Given the description of an element on the screen output the (x, y) to click on. 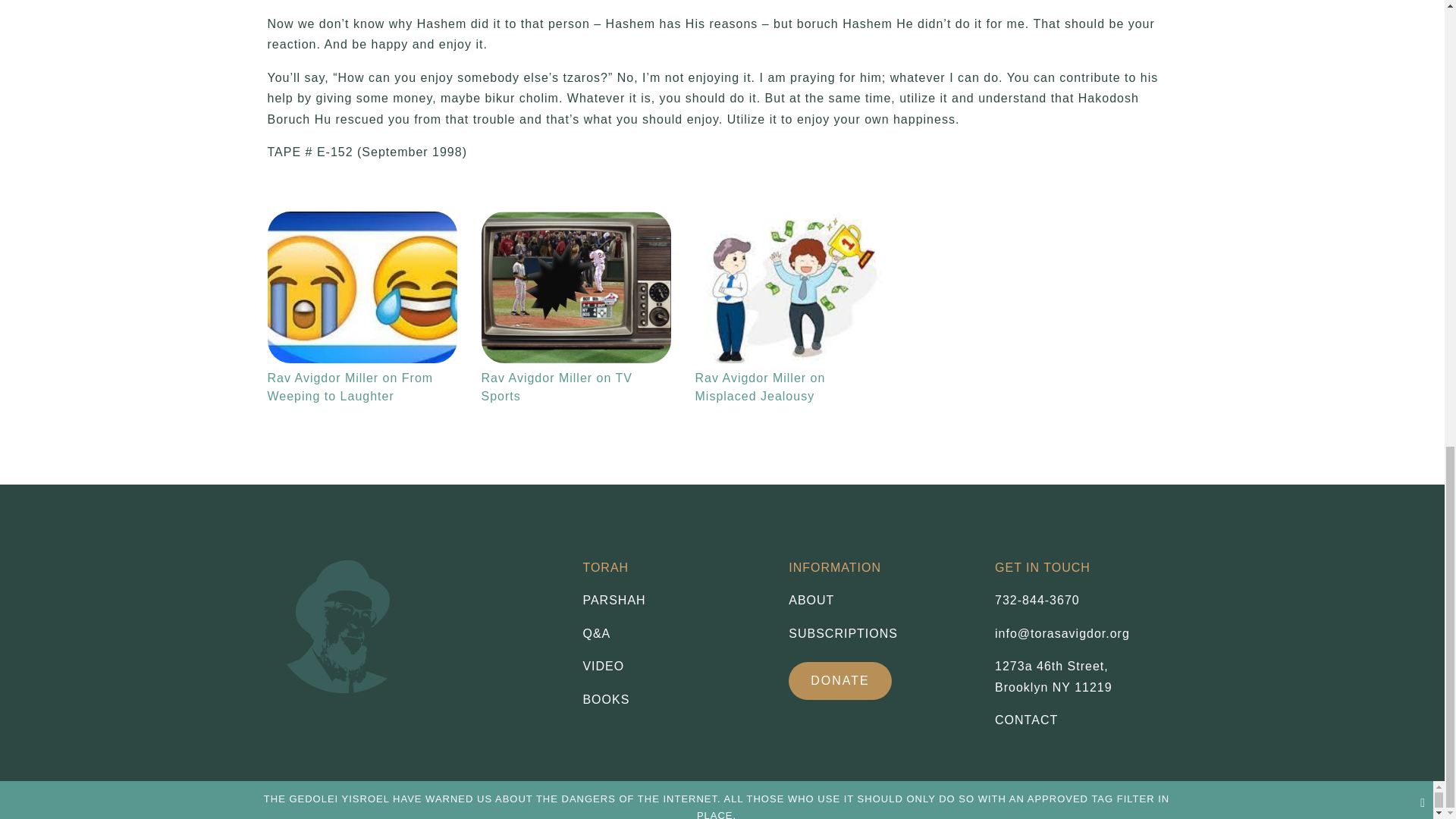
732-844-3670 (1037, 599)
ABOUT (880, 599)
VIDEO (673, 666)
footer-img (344, 622)
Rav Avigdor Miller on TV Sports (574, 287)
SUBSCRIPTIONS (880, 633)
Rav Avigdor Miller on Misplaced Jealousy (788, 287)
CONTACT (1026, 719)
PARSHAH (673, 599)
DONATE (1053, 676)
Rav Avigdor Miller on From Weeping to Laughter (840, 680)
BOOKS (361, 287)
